Given the description of an element on the screen output the (x, y) to click on. 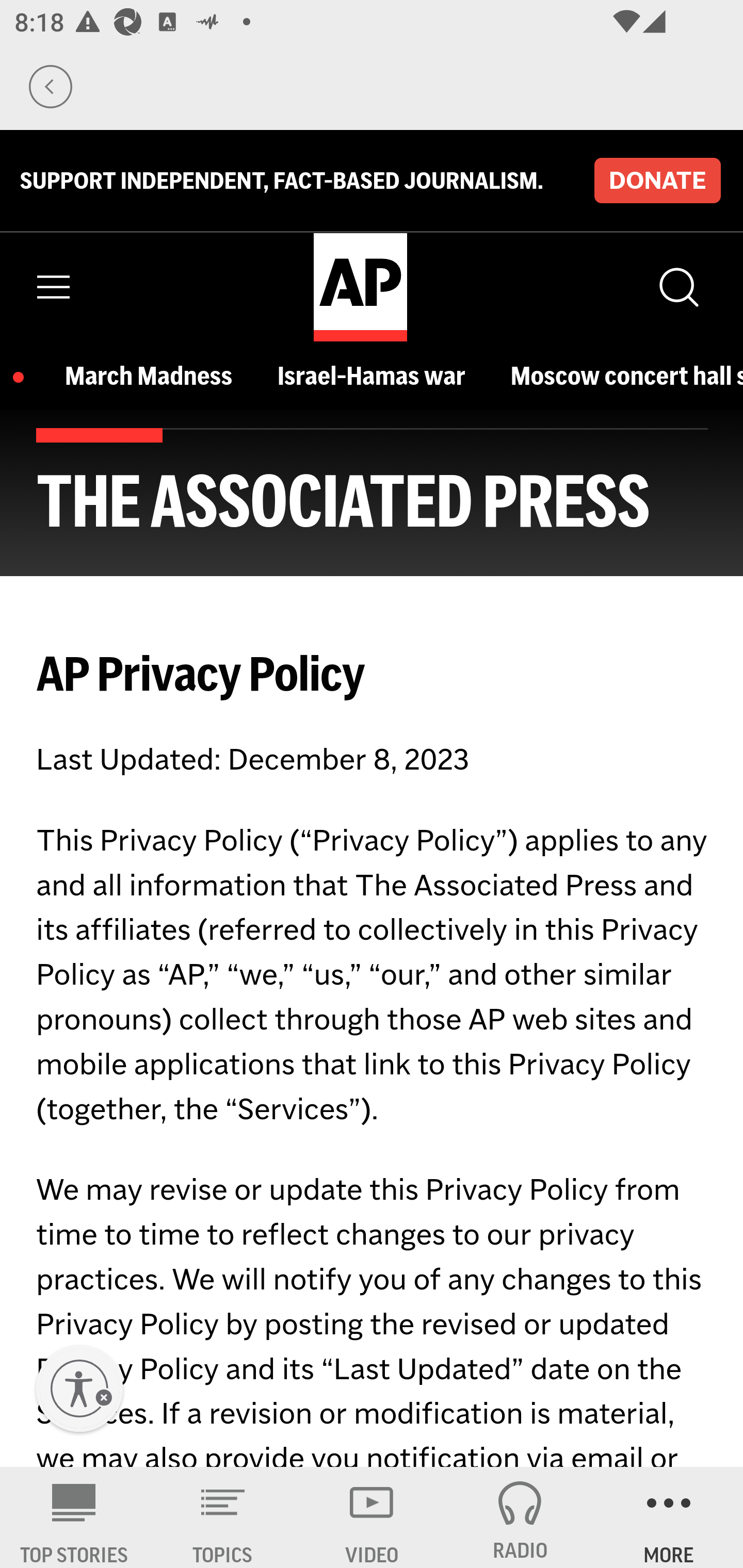
DONATE (657, 179)
Menu home page AP Logo Show Search (371, 286)
home page AP Logo (359, 286)
Menu (54, 286)
Show Search (677, 286)
March Madness (153, 375)
Israel-Hamas war (375, 375)
Moscow concert hall shooting (625, 375)
Enable accessibility (79, 1389)
AP News TOP STORIES (74, 1517)
TOPICS (222, 1517)
VIDEO (371, 1517)
RADIO (519, 1517)
MORE (668, 1517)
